Given the description of an element on the screen output the (x, y) to click on. 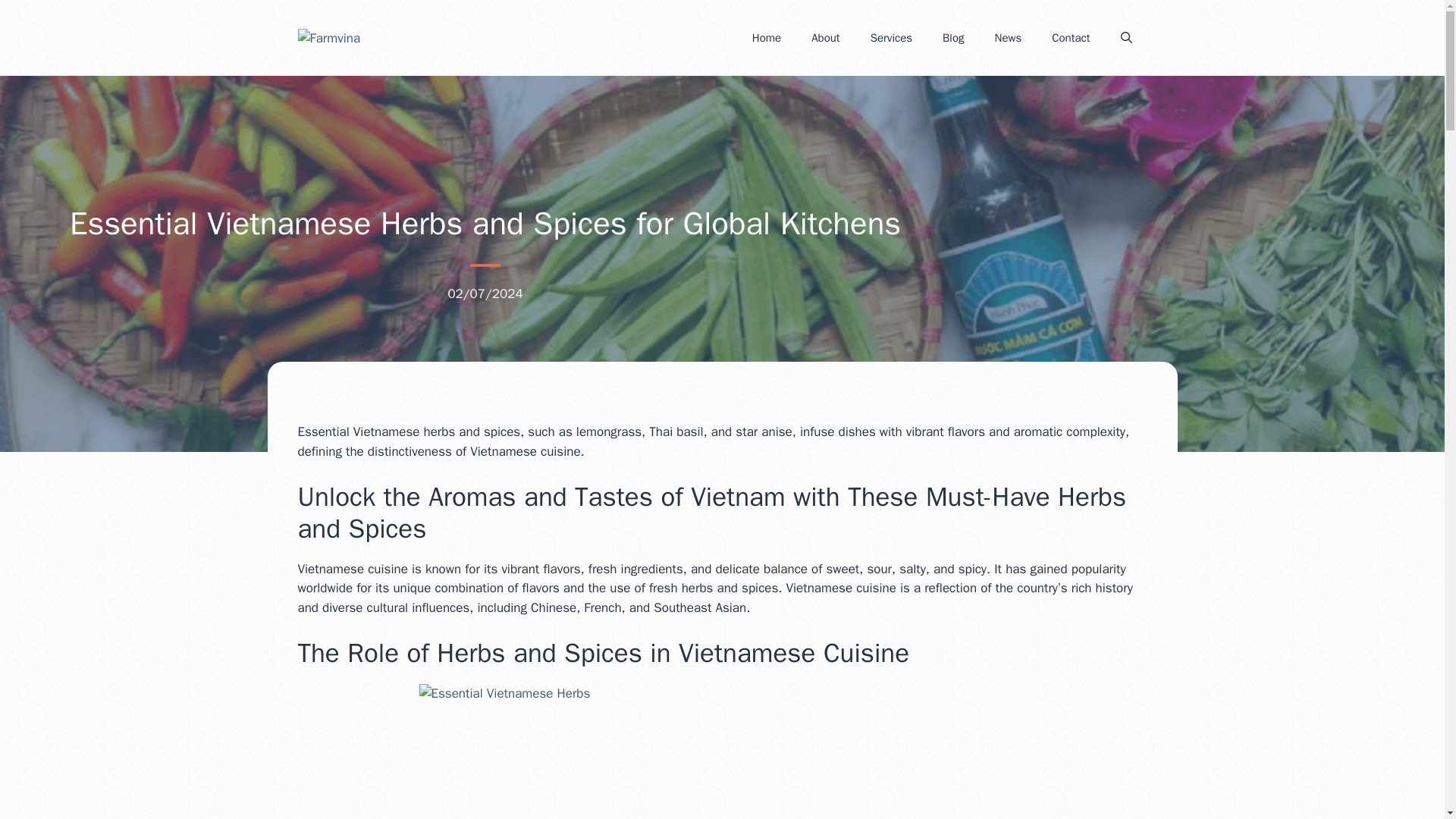
Blog (952, 37)
Services (891, 37)
News (1007, 37)
Home (766, 37)
About (825, 37)
Contact (1070, 37)
